Given the description of an element on the screen output the (x, y) to click on. 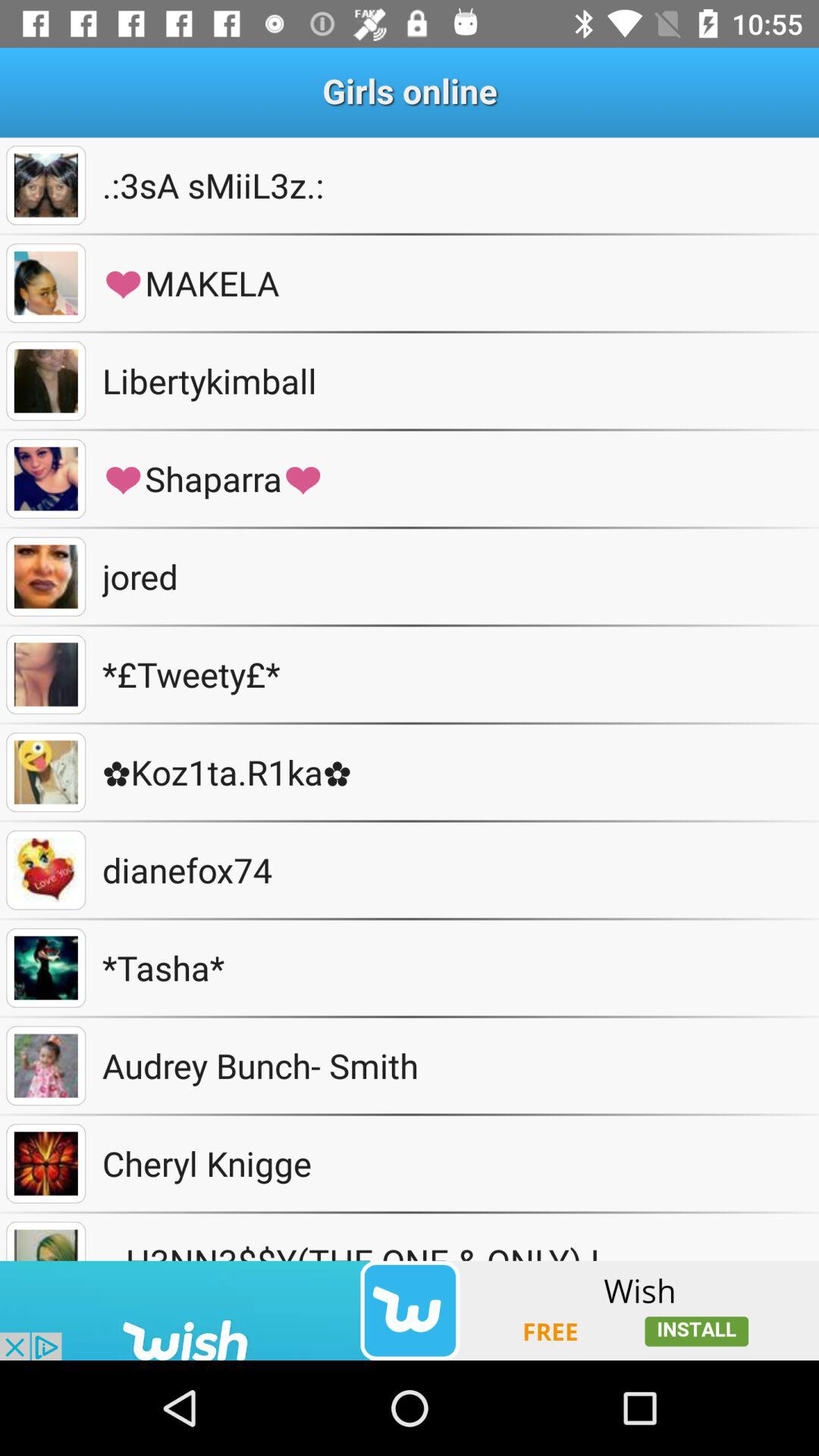
view cheryl knigge (45, 1163)
